Given the description of an element on the screen output the (x, y) to click on. 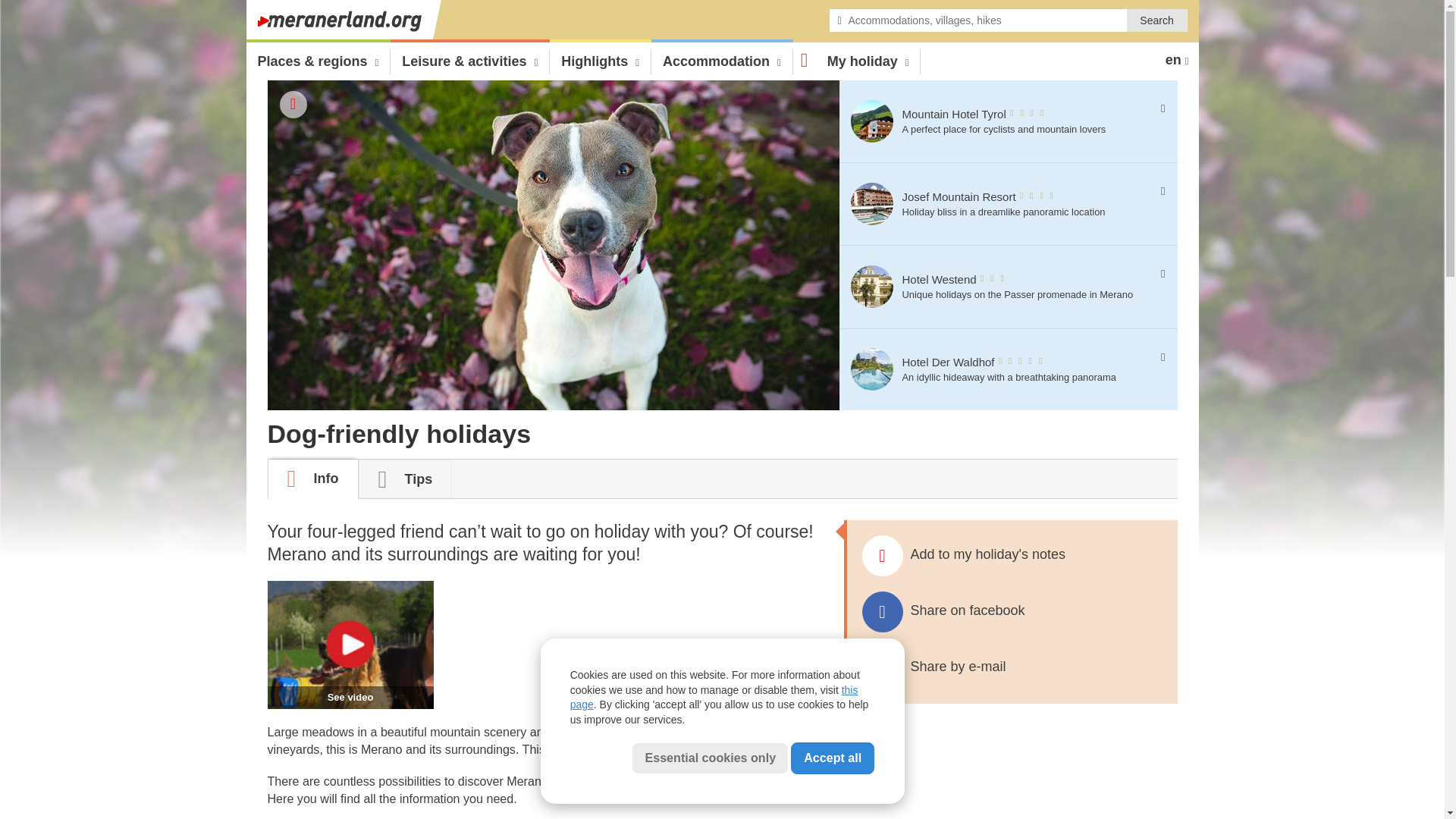
See video (349, 743)
Share by e-mail (1011, 667)
Add to my holiday's notes (1011, 555)
Share on facebook (1011, 611)
